Given the description of an element on the screen output the (x, y) to click on. 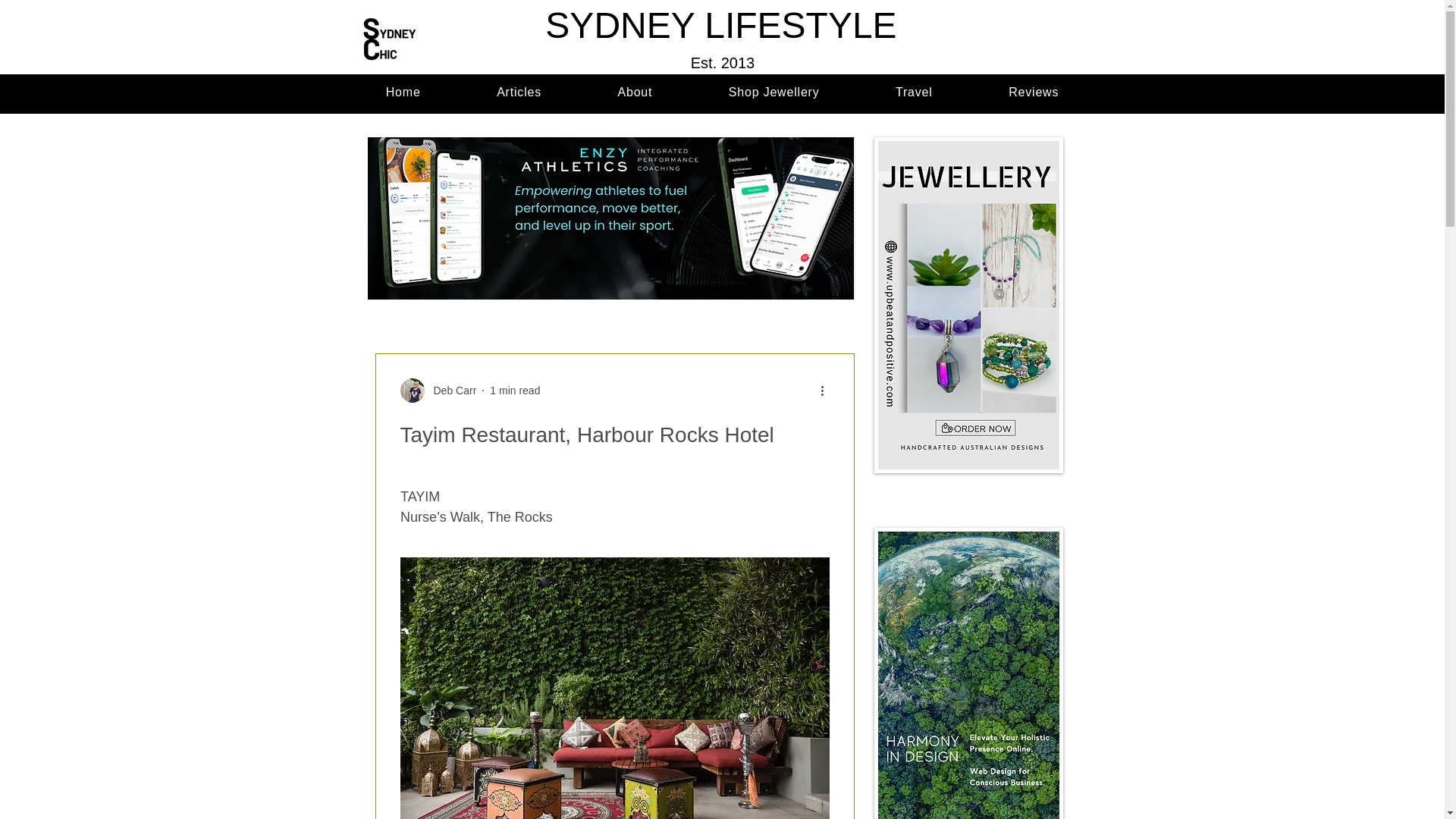
Articles (518, 92)
Shop Jewellery (774, 92)
Travel (914, 92)
Deb Carr (451, 390)
About (634, 92)
Deb Carr (721, 92)
1 min read (438, 390)
Reviews (514, 390)
Home (1034, 92)
